Given the description of an element on the screen output the (x, y) to click on. 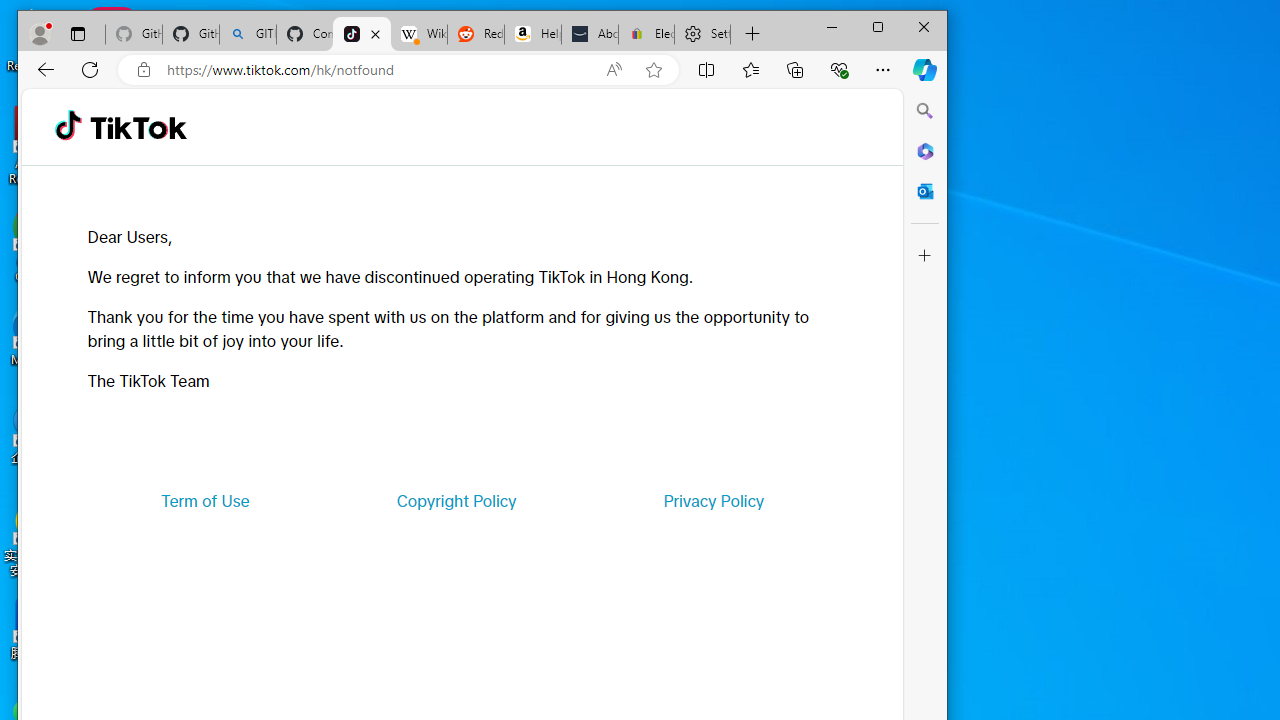
Maximize (878, 26)
About Amazon (589, 34)
Wikipedia, the free encyclopedia (418, 34)
